Given the description of an element on the screen output the (x, y) to click on. 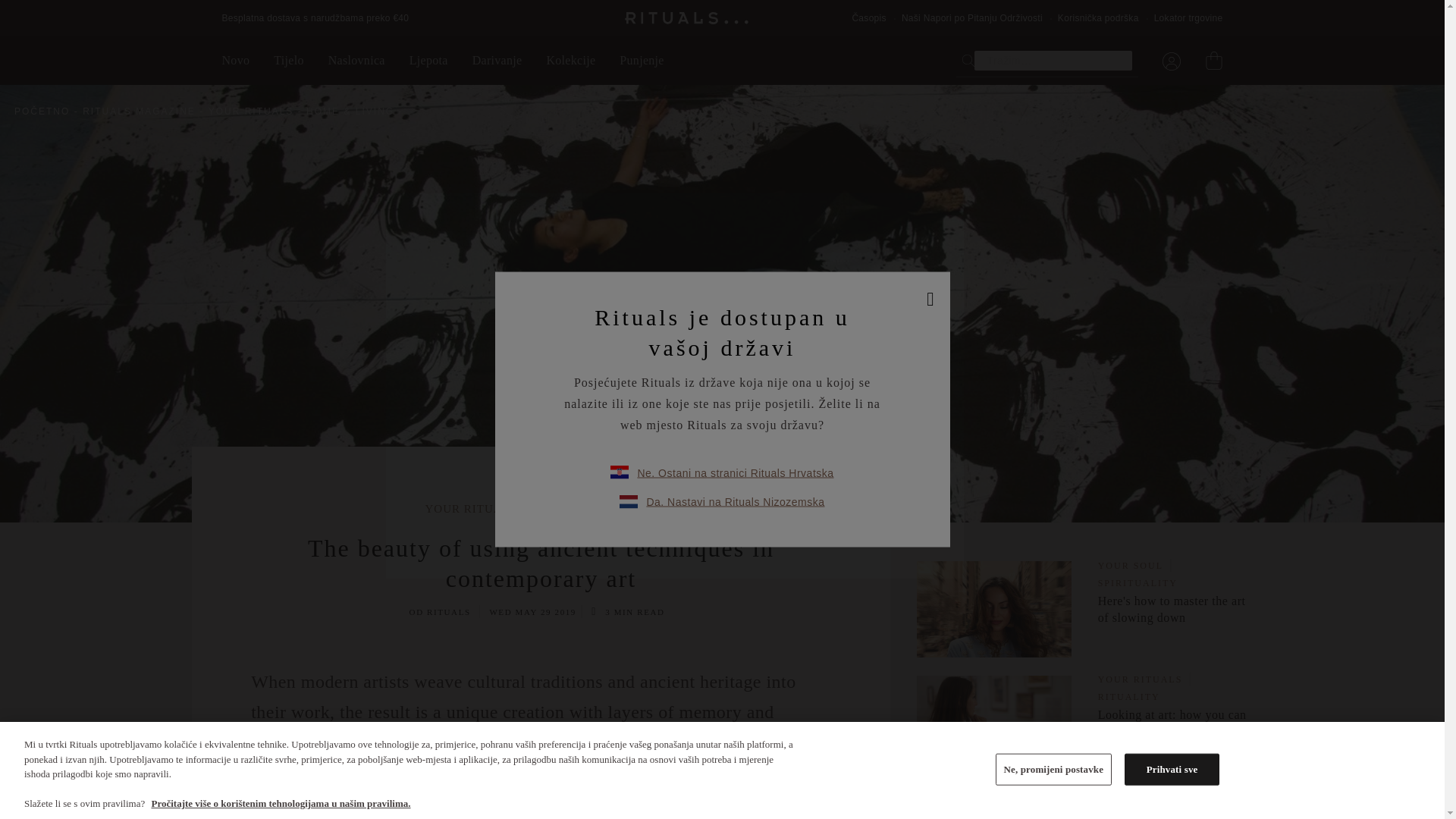
Rituals Magazine (142, 111)
Lokator trgovine (1188, 18)
Your Rituals (255, 111)
Logotip Rituals (686, 18)
